Given the description of an element on the screen output the (x, y) to click on. 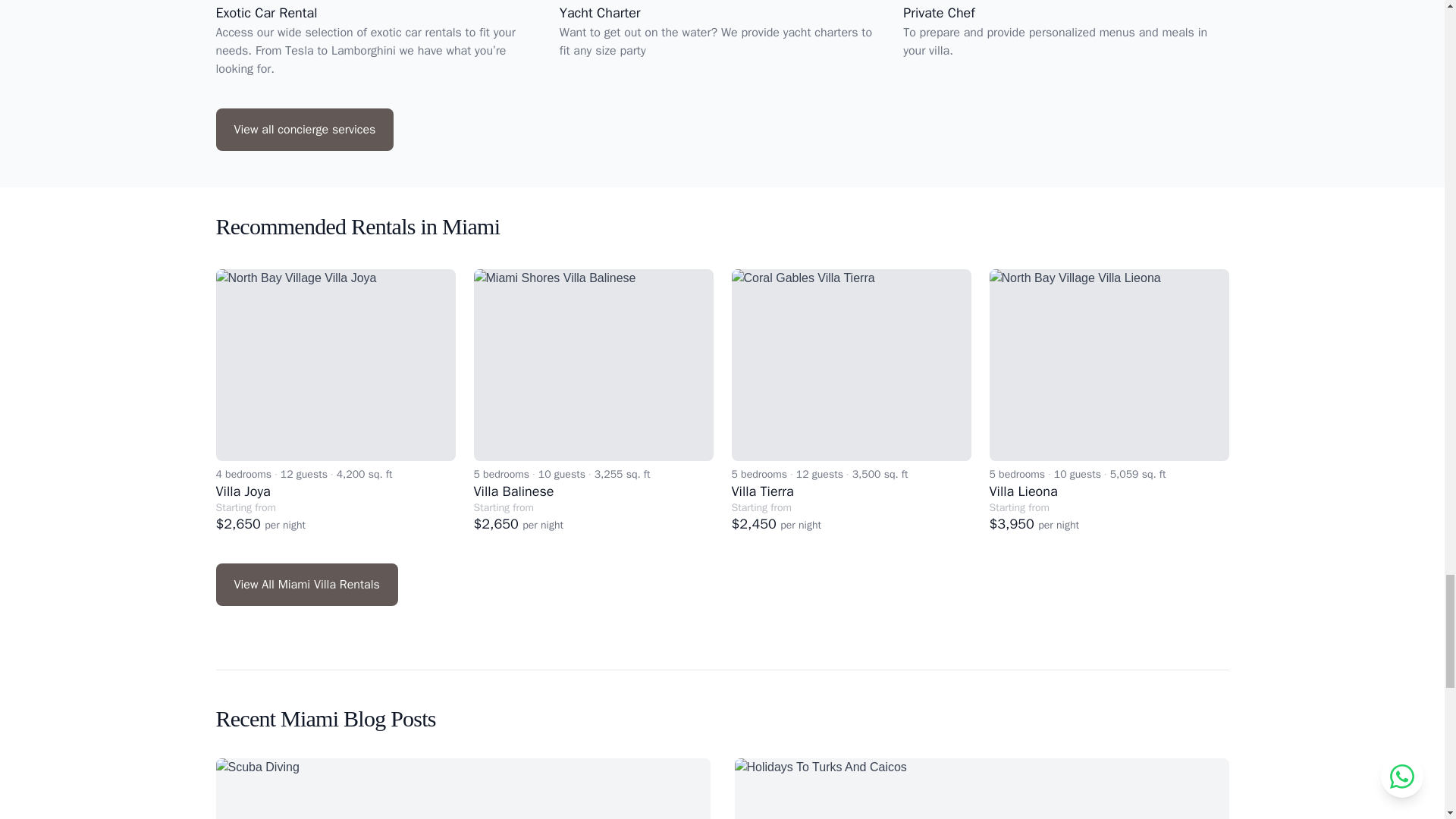
Learn more about renting Villa Balinese (593, 365)
Learn more about renting Villa Tierra (850, 365)
Learn more about renting Villa Lieona (1108, 365)
Miami Villa Rentals (306, 584)
Learn more about renting Villa Joya (334, 365)
